Given the description of an element on the screen output the (x, y) to click on. 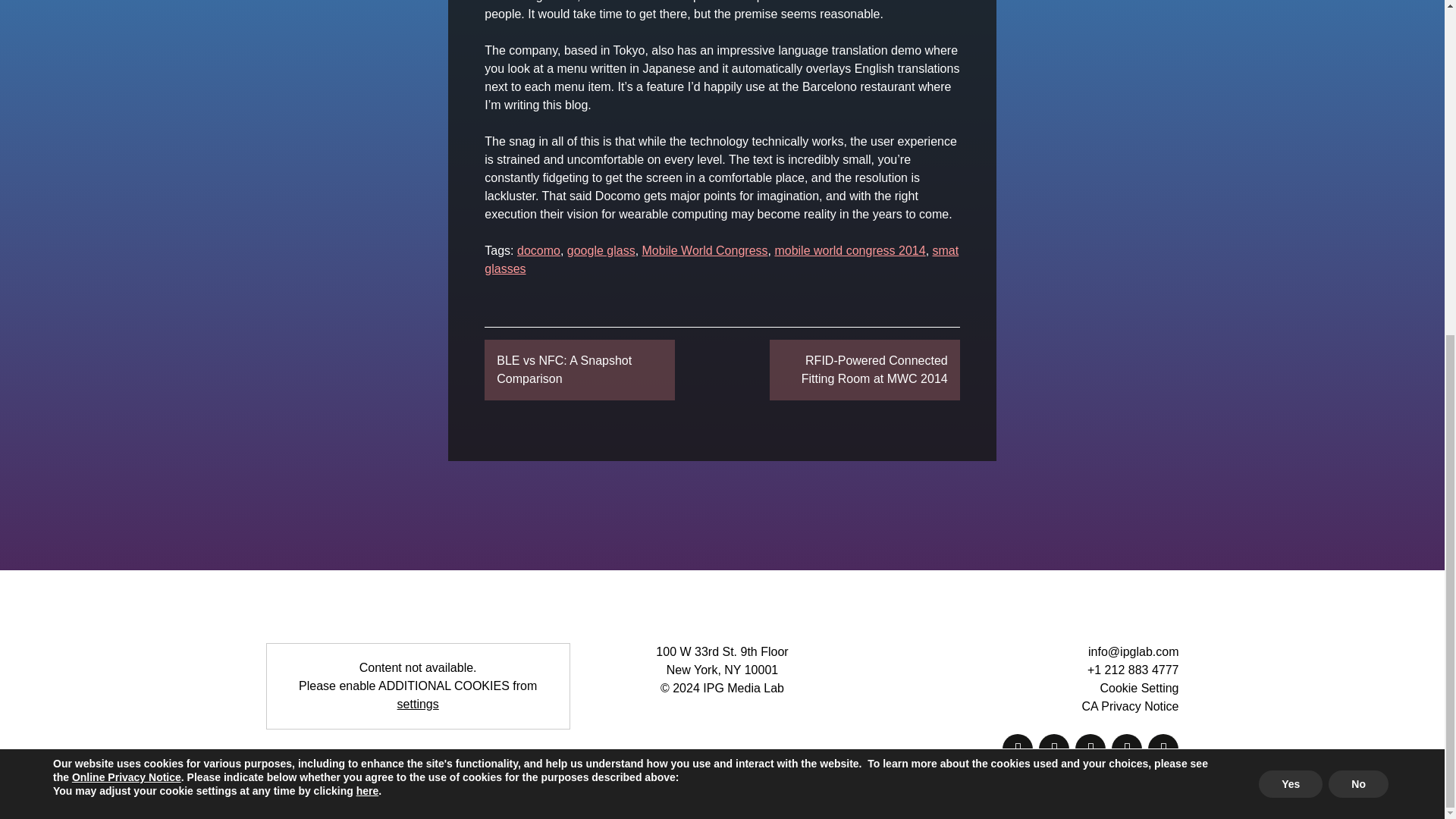
smat glasses (721, 259)
CA Privacy Notice (1129, 706)
mobile world congress 2014 (849, 250)
Medium (1017, 748)
Instagram (1126, 748)
docomo (538, 250)
BLE vs NFC: A Snapshot Comparison (579, 369)
Twitter (1090, 748)
google glass (600, 250)
Facebook (1053, 748)
RFID-Powered Connected Fitting Room at MWC 2014 (864, 369)
Online Privacy Notice (125, 215)
Yes (1290, 221)
Mobile World Congress (705, 250)
Cookie Setting (1138, 687)
